Given the description of an element on the screen output the (x, y) to click on. 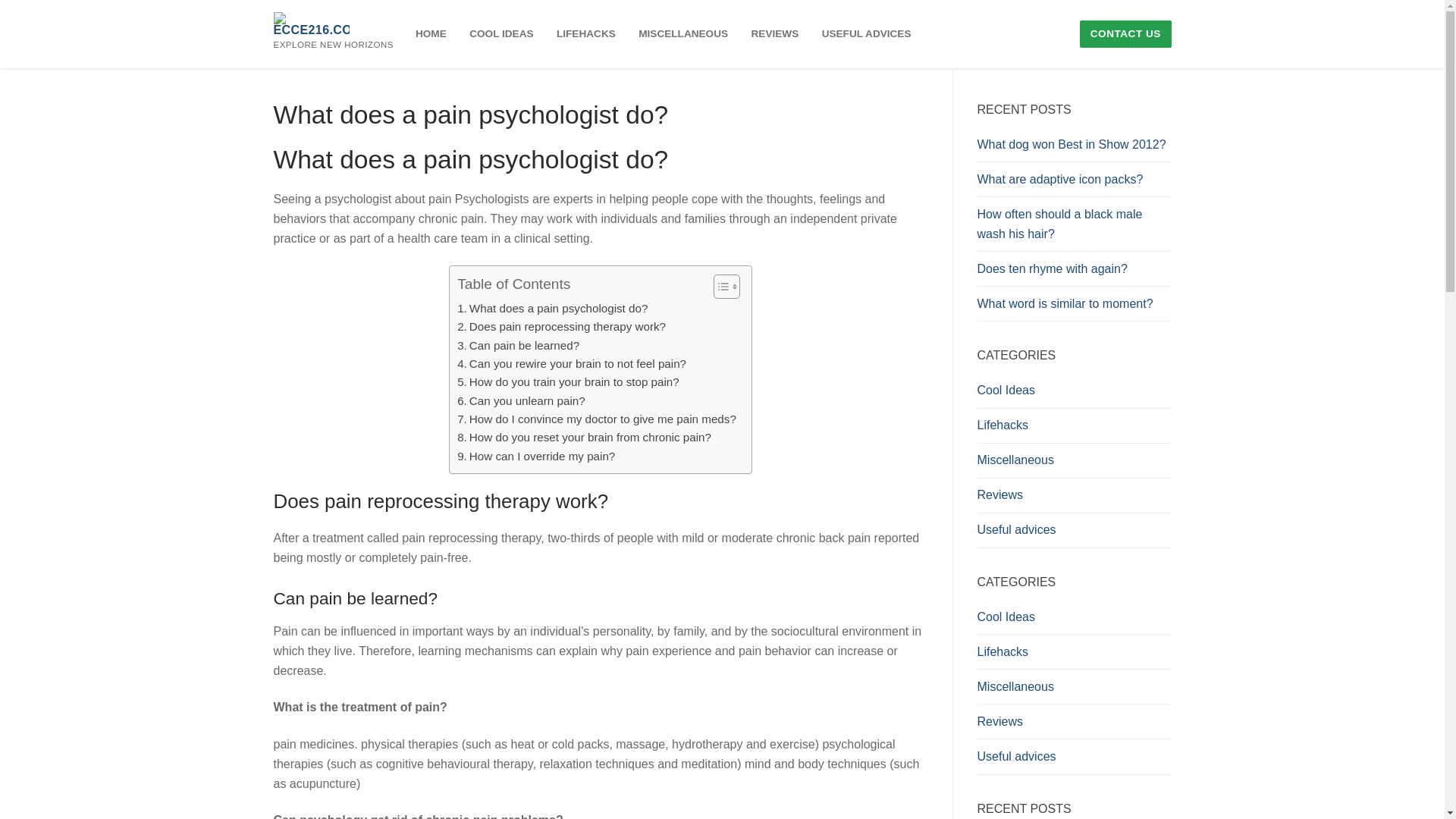
LIFEHACKS (586, 33)
What does a pain psychologist do? (552, 308)
Can pain be learned? (518, 345)
USEFUL ADVICES (866, 33)
Does pain reprocessing therapy work? (561, 326)
How do you reset your brain from chronic pain? (584, 437)
Can pain be learned? (518, 345)
Does pain reprocessing therapy work? (561, 326)
REVIEWS (775, 33)
How do you train your brain to stop pain? (568, 382)
